Given the description of an element on the screen output the (x, y) to click on. 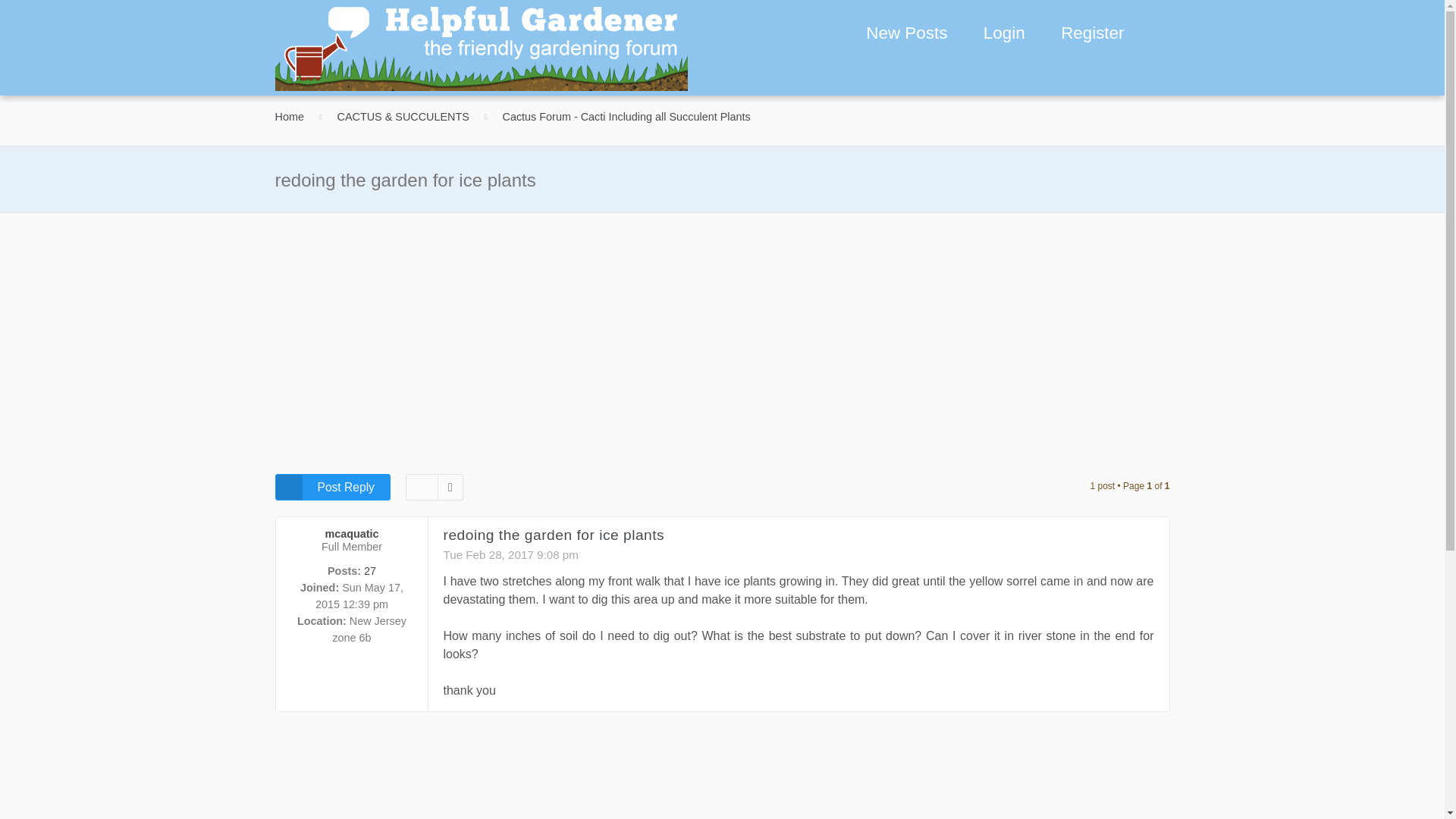
Reply with quote (1140, 544)
27 (369, 571)
mcaquatic (351, 533)
Tue Feb 28, 2017 9:08 pm (510, 554)
redoing the garden for ice plants (552, 534)
Post Reply (332, 487)
Advertisement (722, 773)
Login (1000, 34)
New Posts (906, 33)
